Given the description of an element on the screen output the (x, y) to click on. 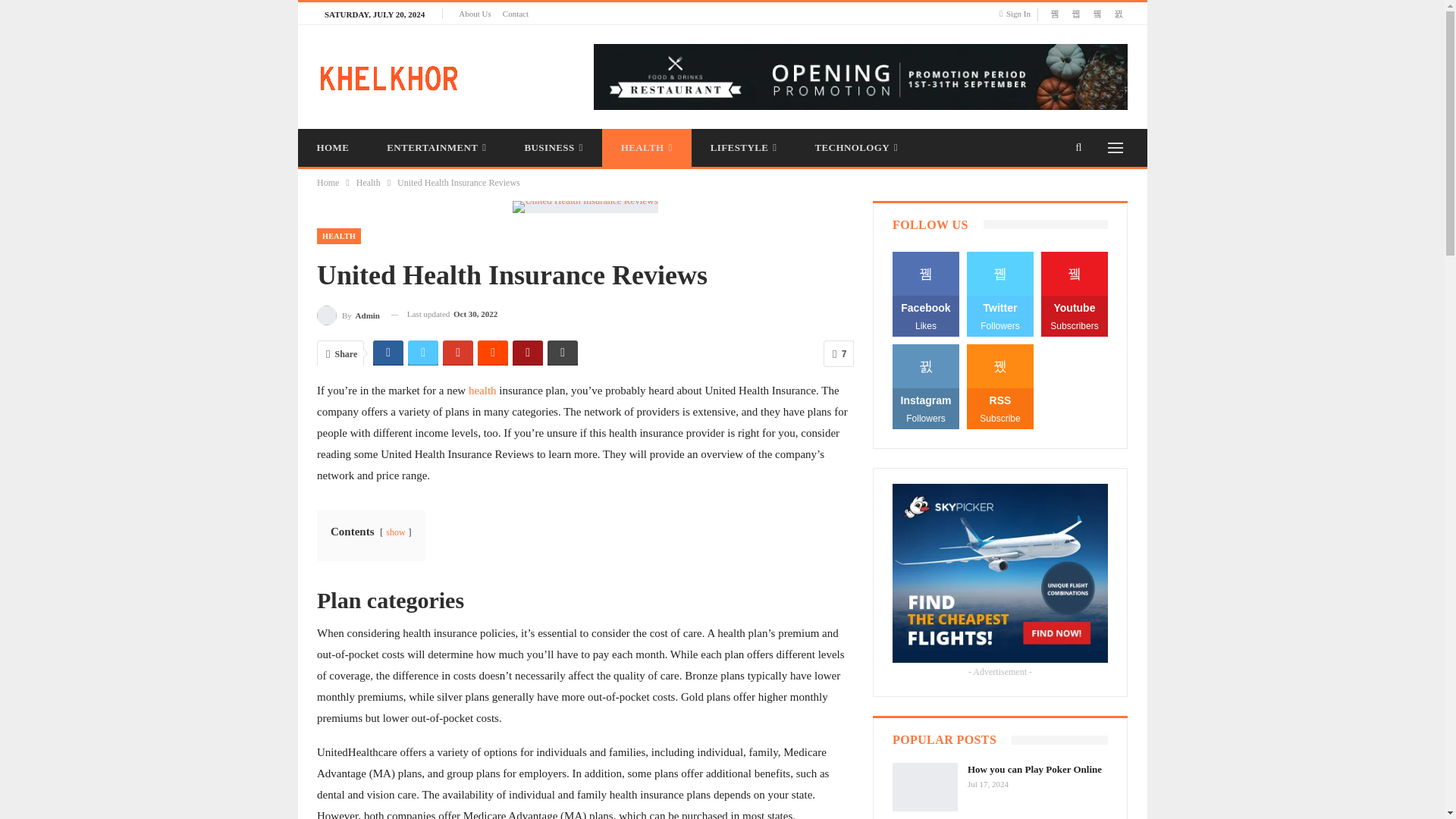
Sign In (1017, 13)
BUSINESS (553, 147)
HOME (332, 147)
Browse Author Articles (348, 313)
ENTERTAINMENT (436, 147)
About Us (474, 13)
Contact (515, 13)
How you can Play Poker Online (925, 786)
